Given the description of an element on the screen output the (x, y) to click on. 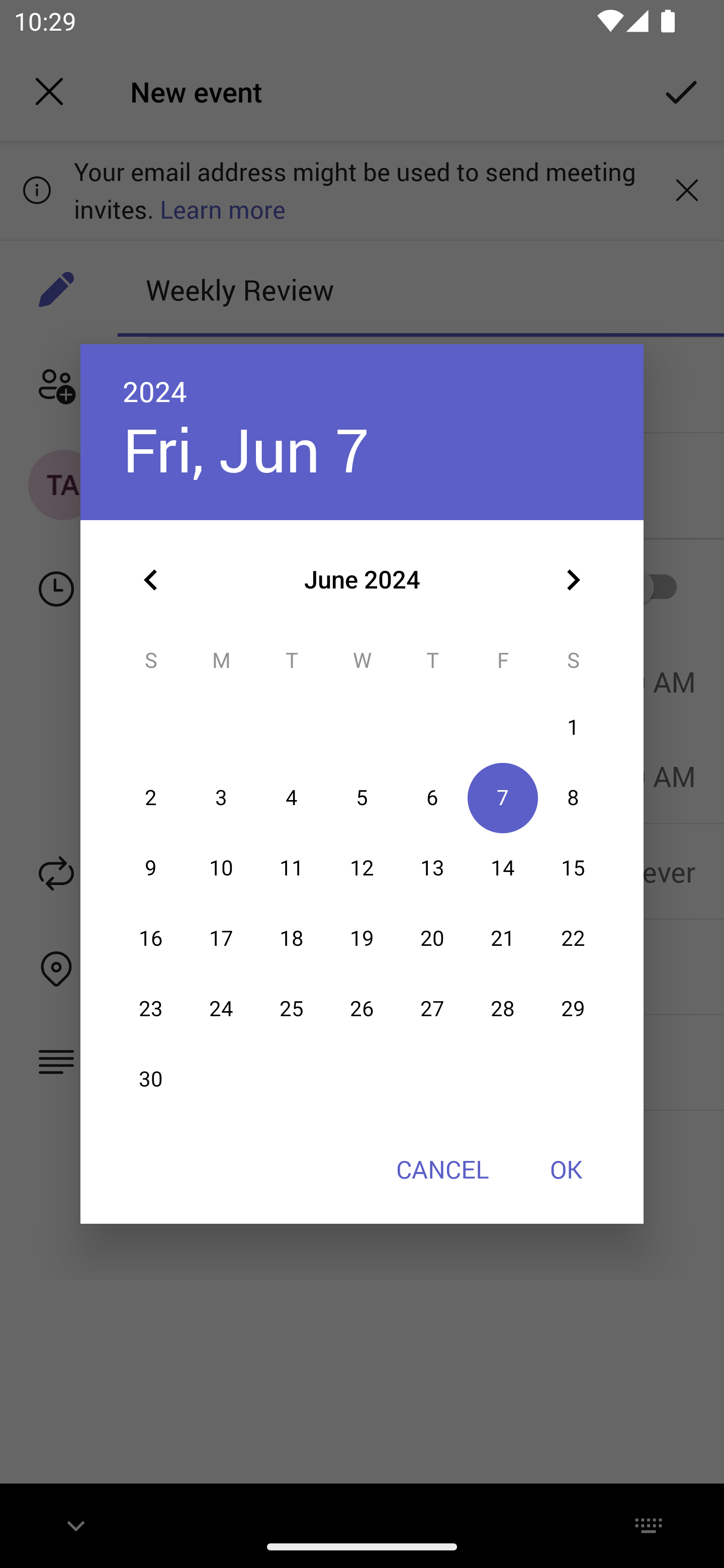
2024 (154, 391)
Fri, Jun 7 (245, 449)
Previous month (150, 579)
Next month (572, 579)
1 01 June 2024 (572, 728)
2 02 June 2024 (150, 797)
3 03 June 2024 (221, 797)
4 04 June 2024 (291, 797)
5 05 June 2024 (361, 797)
6 06 June 2024 (432, 797)
7 07 June 2024 (502, 797)
8 08 June 2024 (572, 797)
9 09 June 2024 (150, 867)
10 10 June 2024 (221, 867)
11 11 June 2024 (291, 867)
12 12 June 2024 (361, 867)
13 13 June 2024 (432, 867)
14 14 June 2024 (502, 867)
15 15 June 2024 (572, 867)
16 16 June 2024 (150, 938)
17 17 June 2024 (221, 938)
18 18 June 2024 (291, 938)
19 19 June 2024 (361, 938)
20 20 June 2024 (432, 938)
21 21 June 2024 (502, 938)
22 22 June 2024 (572, 938)
23 23 June 2024 (150, 1008)
24 24 June 2024 (221, 1008)
25 25 June 2024 (291, 1008)
26 26 June 2024 (361, 1008)
27 27 June 2024 (432, 1008)
28 28 June 2024 (502, 1008)
29 29 June 2024 (572, 1008)
30 30 June 2024 (150, 1079)
CANCEL (442, 1168)
OK (565, 1168)
